Given the description of an element on the screen output the (x, y) to click on. 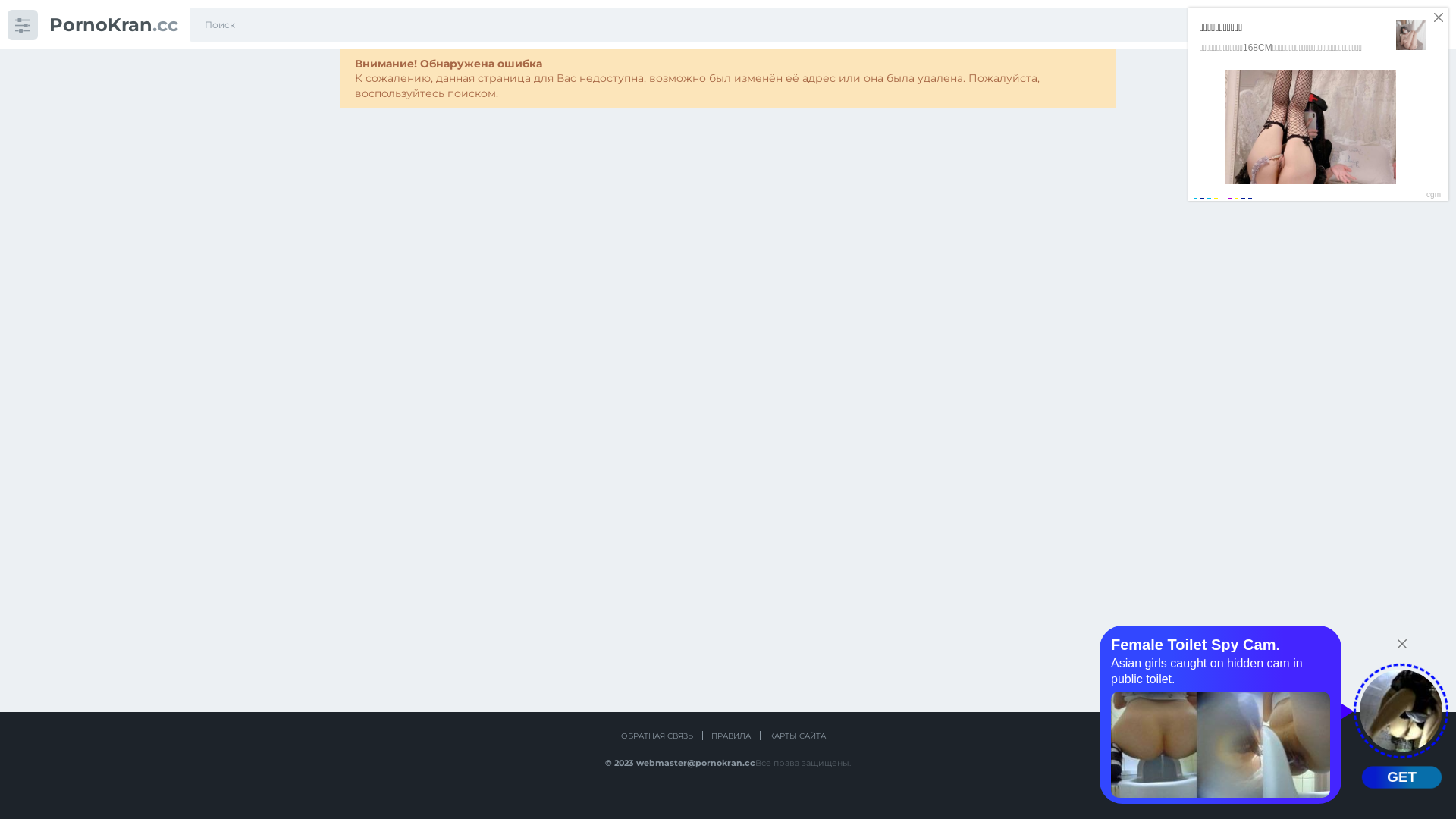
PornoKran.cc Element type: text (113, 24)
LiveInternet Element type: hover (725, 791)
